Given the description of an element on the screen output the (x, y) to click on. 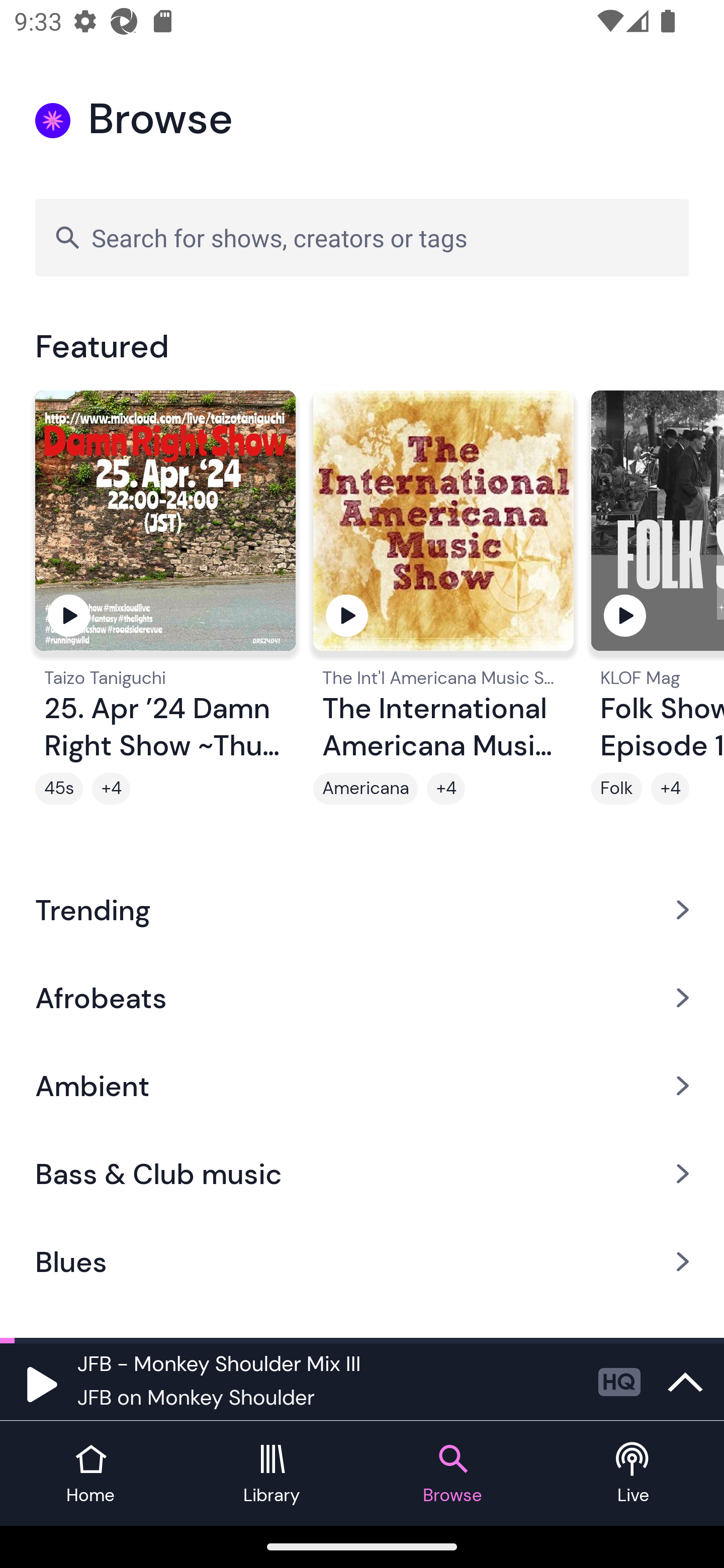
Search for shows, creators or tags (361, 237)
45s (59, 788)
Americana (365, 788)
Folk (616, 788)
Trending (361, 909)
Afrobeats (361, 997)
Ambient (361, 1085)
Bass & Club music (361, 1174)
Blues (361, 1262)
Home tab Home (90, 1473)
Library tab Library (271, 1473)
Browse tab Browse (452, 1473)
Live tab Live (633, 1473)
